Given the description of an element on the screen output the (x, y) to click on. 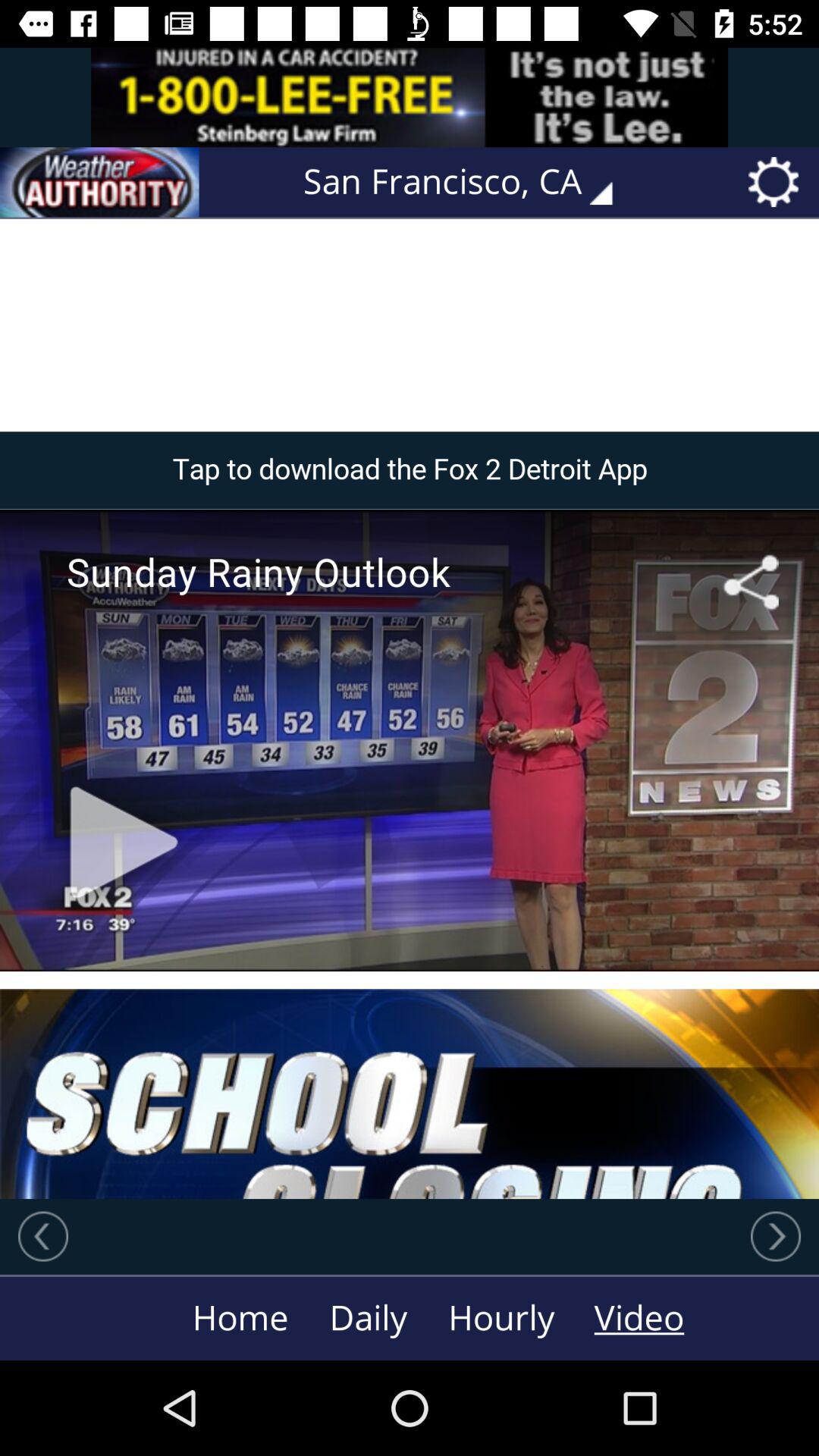
advertisement (409, 97)
